Given the description of an element on the screen output the (x, y) to click on. 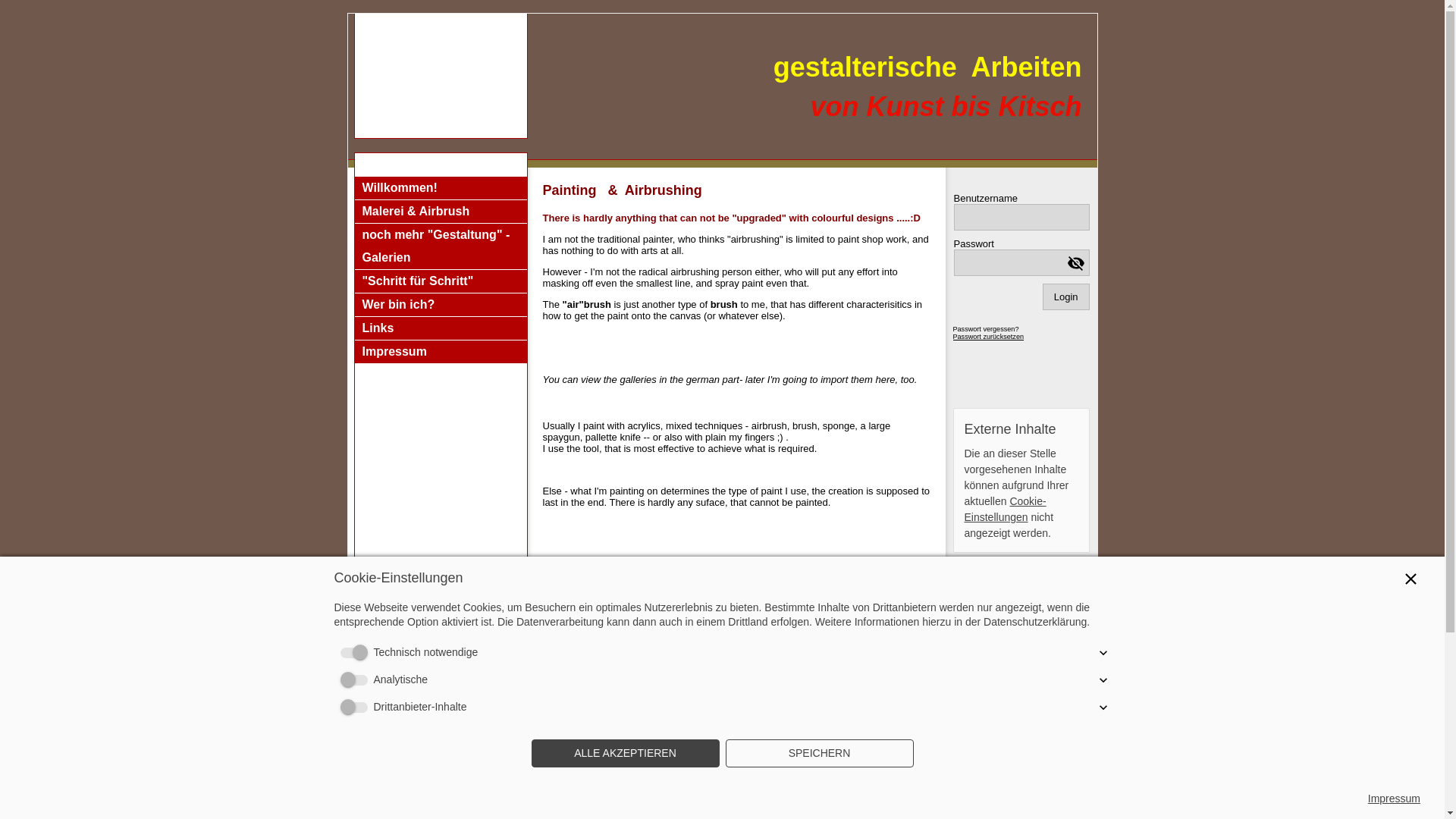
Willkommen! (441, 187)
Wer bin ich? (441, 304)
noch mehr "Gestaltung" - Galerien (441, 246)
Links (441, 328)
Willkommen! (441, 187)
Links (441, 328)
Impressum (441, 351)
Impressum (1394, 798)
Login (1065, 296)
